Given the description of an element on the screen output the (x, y) to click on. 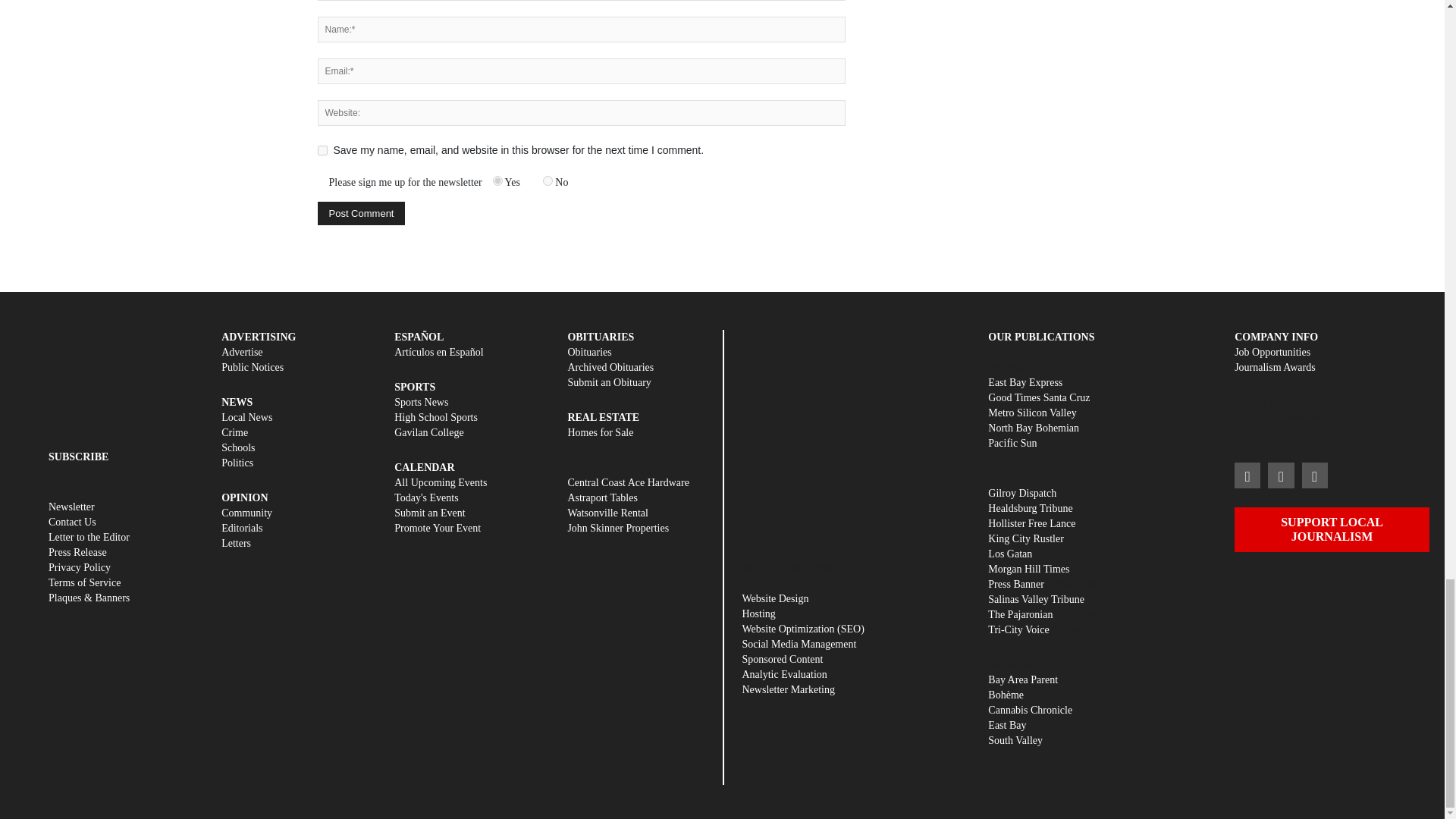
Post Comment (360, 213)
No (548, 180)
yes (321, 150)
Yes (497, 180)
